Given the description of an element on the screen output the (x, y) to click on. 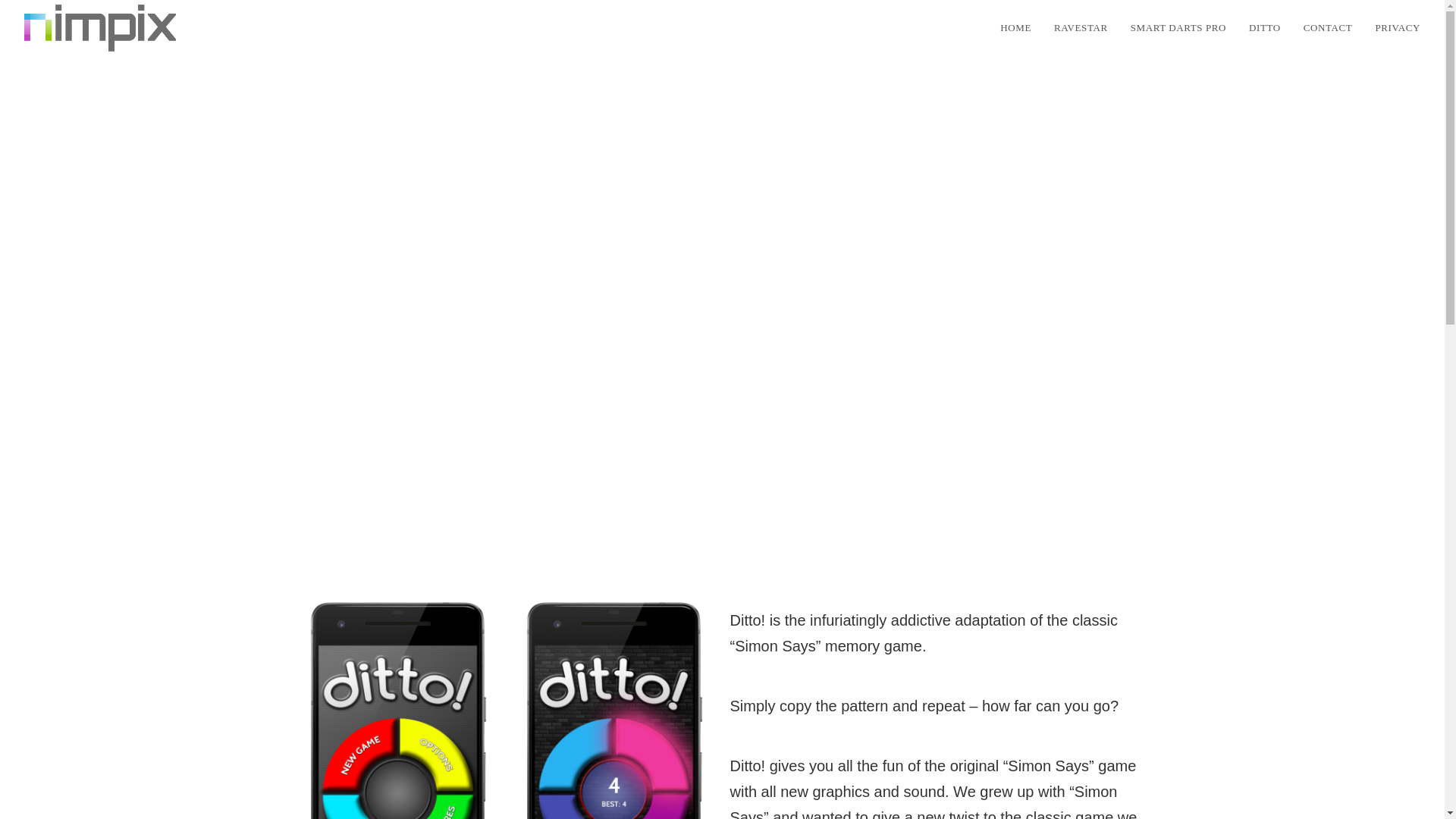
RAVESTAR (1080, 28)
PRIVACY (1396, 28)
DITTO (1264, 28)
SMART DARTS PRO (1178, 28)
HOME (1015, 28)
CONTACT (1328, 28)
